Given the description of an element on the screen output the (x, y) to click on. 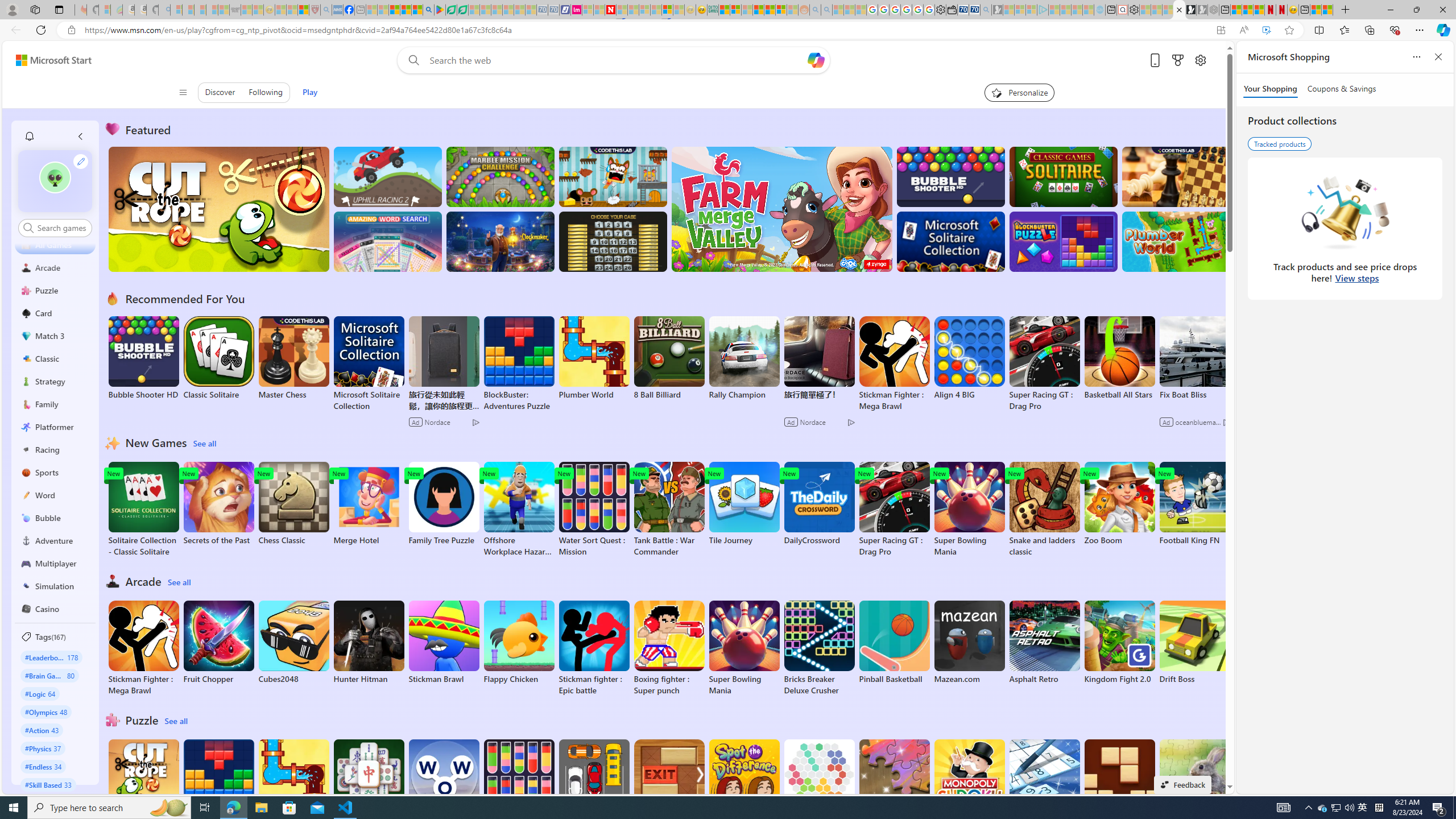
Tank Battle : War Commander (668, 509)
Secrets of the Past (218, 503)
Stickman Brawl (443, 642)
Bricks Breaker Deluxe Crusher (818, 648)
8 Ball Billiard (668, 358)
Rally Champion (744, 358)
